Given the description of an element on the screen output the (x, y) to click on. 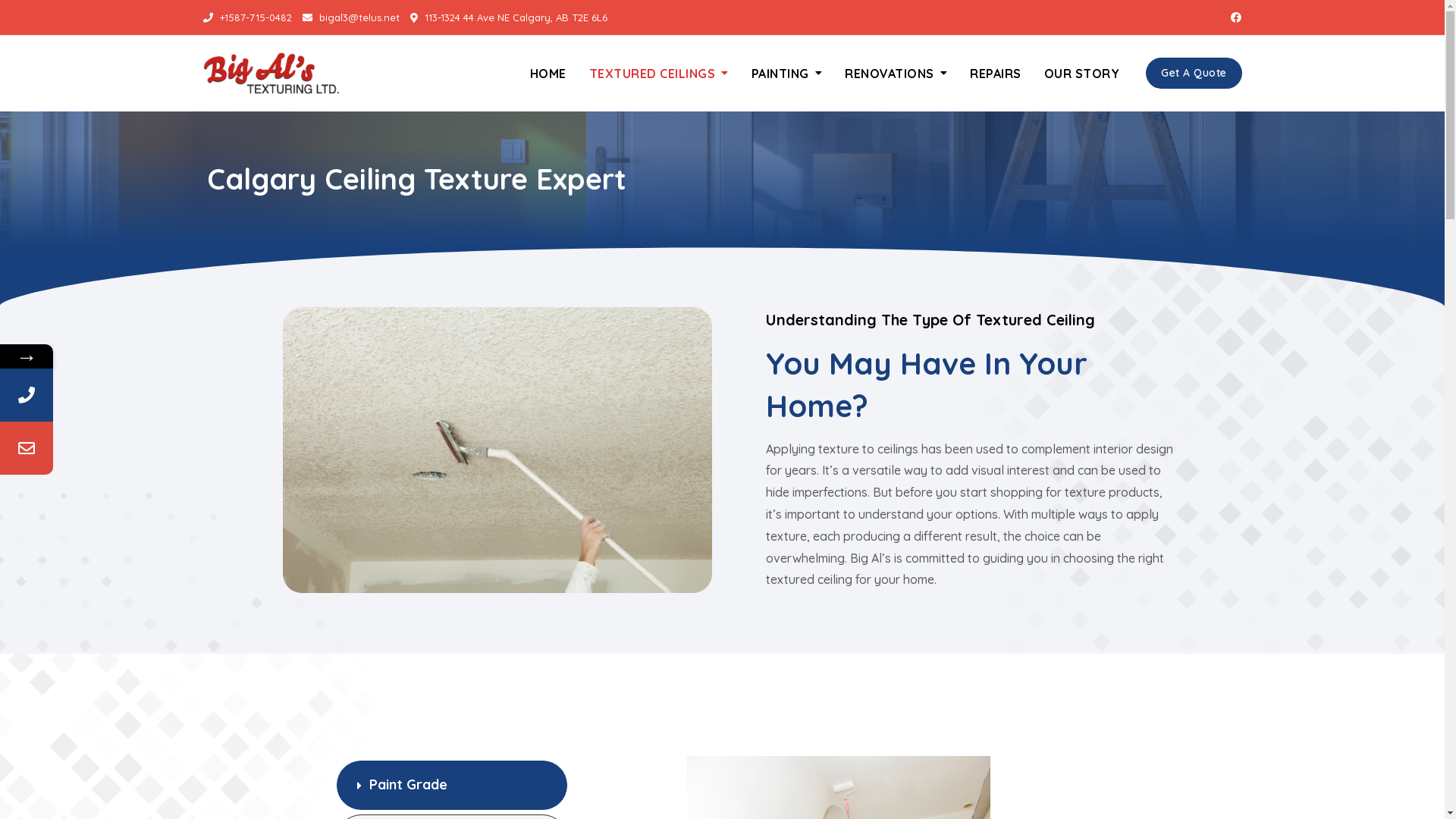
bigal3@telus.net Element type: text (349, 17)
PAINTING Element type: text (787, 73)
OUR STORY Element type: text (1081, 73)
Email Element type: text (131, 447)
RENOVATIONS Element type: text (895, 73)
TEXTURED CEILINGS Element type: text (658, 73)
Get A Quote Element type: text (1193, 72)
+1587-715-0482 Element type: text (247, 17)
HOME Element type: text (553, 73)
REPAIRS Element type: text (995, 73)
Phone Element type: text (131, 394)
Search Element type: text (102, 6)
